Given the description of an element on the screen output the (x, y) to click on. 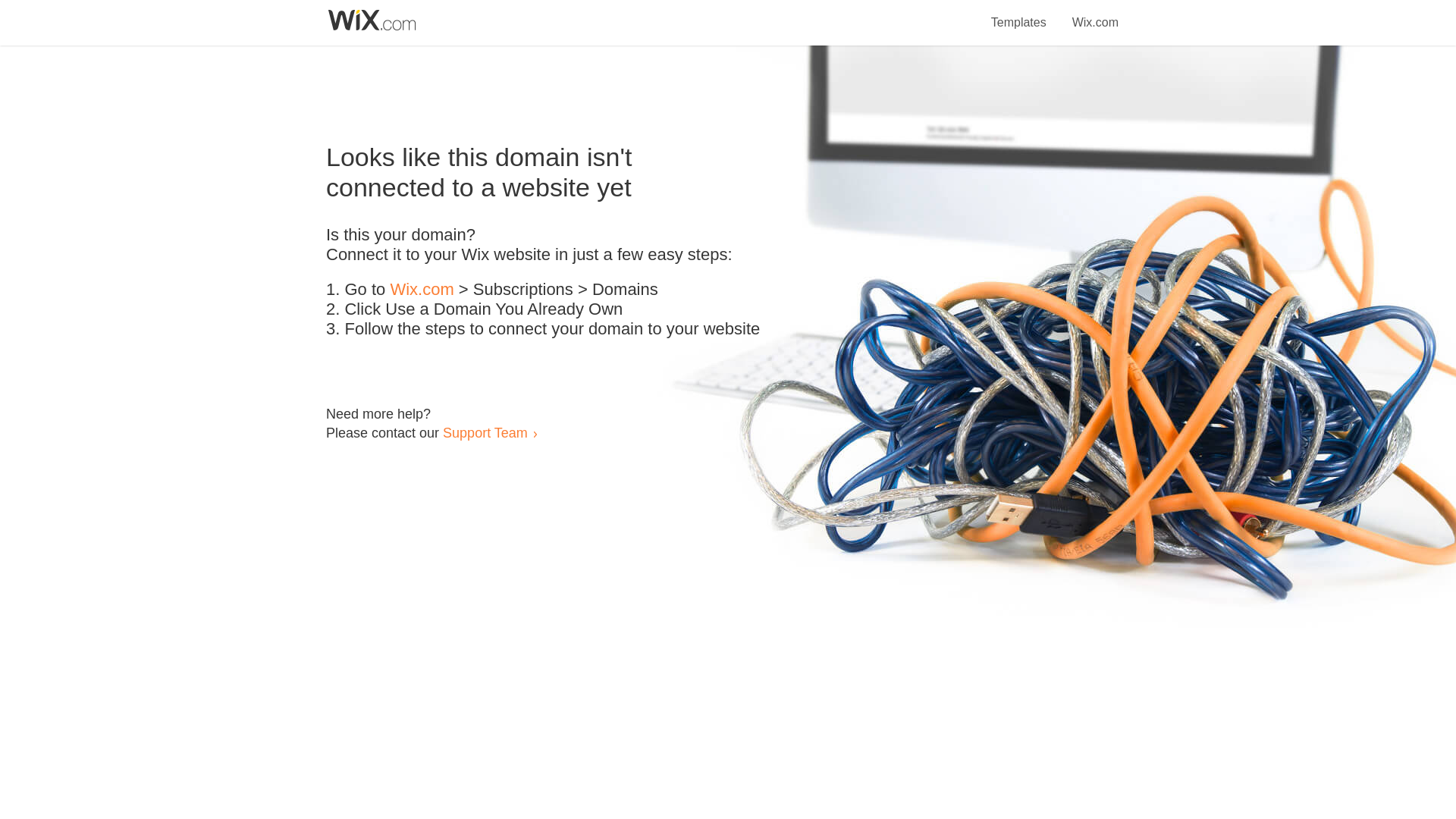
Wix.com (421, 289)
Wix.com (1095, 14)
Support Team (484, 432)
Templates (1018, 14)
